Given the description of an element on the screen output the (x, y) to click on. 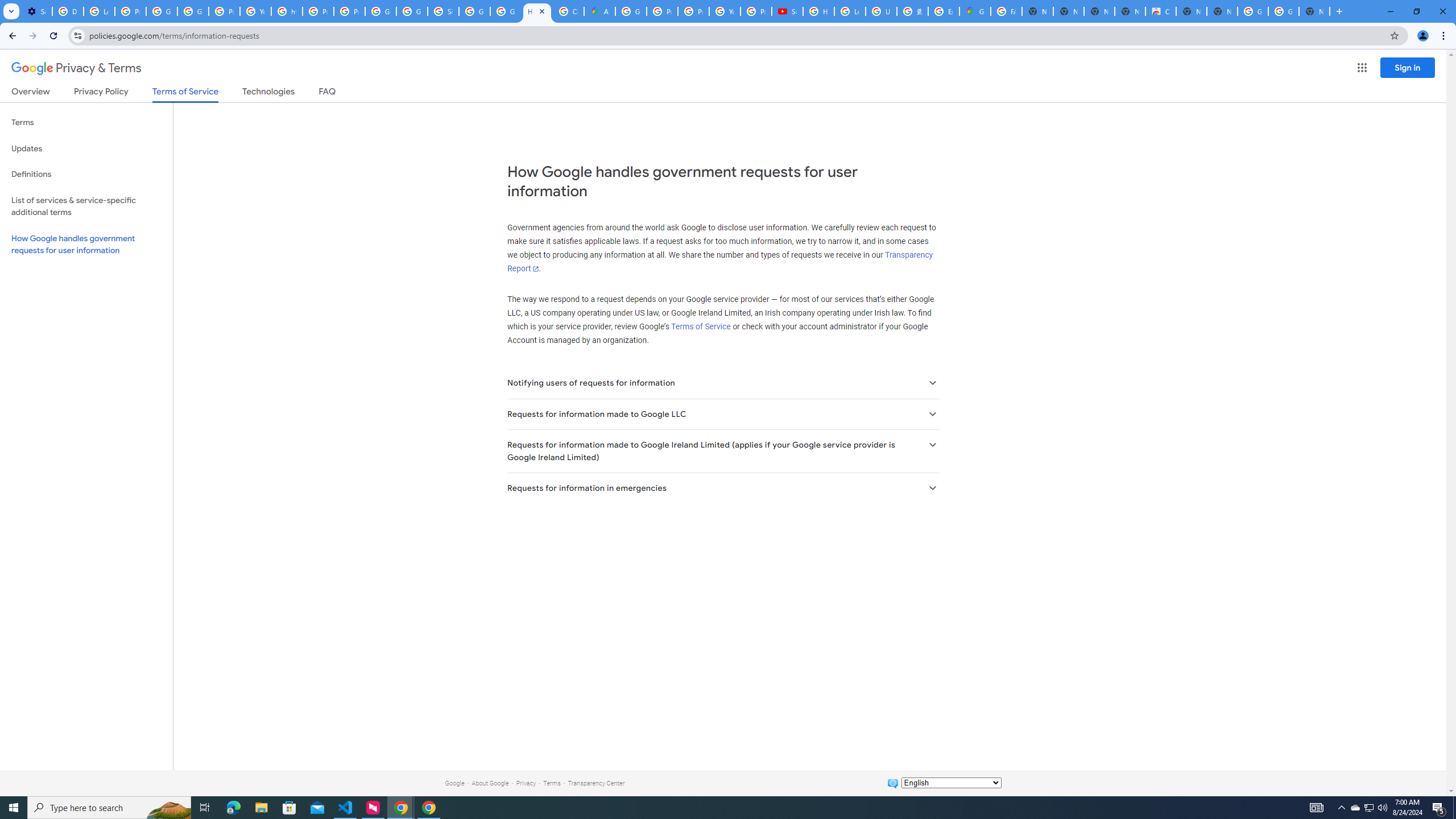
Chrome Web Store (1160, 11)
Sign in - Google Accounts (443, 11)
Explore new street-level details - Google Maps Help (943, 11)
Requests for information in emergencies (722, 488)
Settings - On startup (36, 11)
Privacy (525, 783)
Change language: (951, 782)
